Given the description of an element on the screen output the (x, y) to click on. 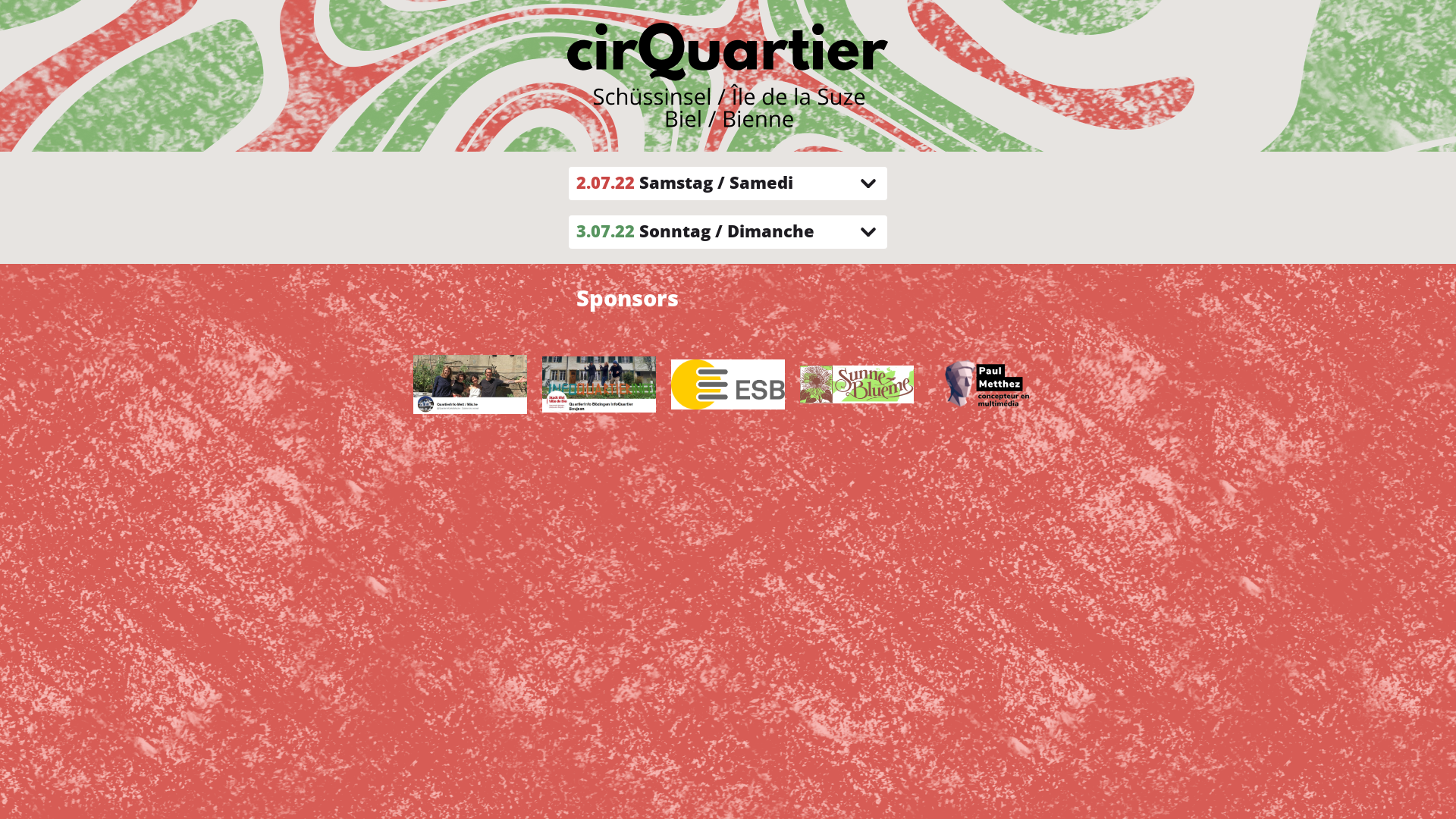
InfoQuartier-Boujean Element type: hover (598, 425)
Energie Service Biel/Bienne Element type: hover (727, 425)
Paul Metthez Element type: hover (985, 425)
Sunne Blueme Biel Element type: hover (856, 425)
